Given the description of an element on the screen output the (x, y) to click on. 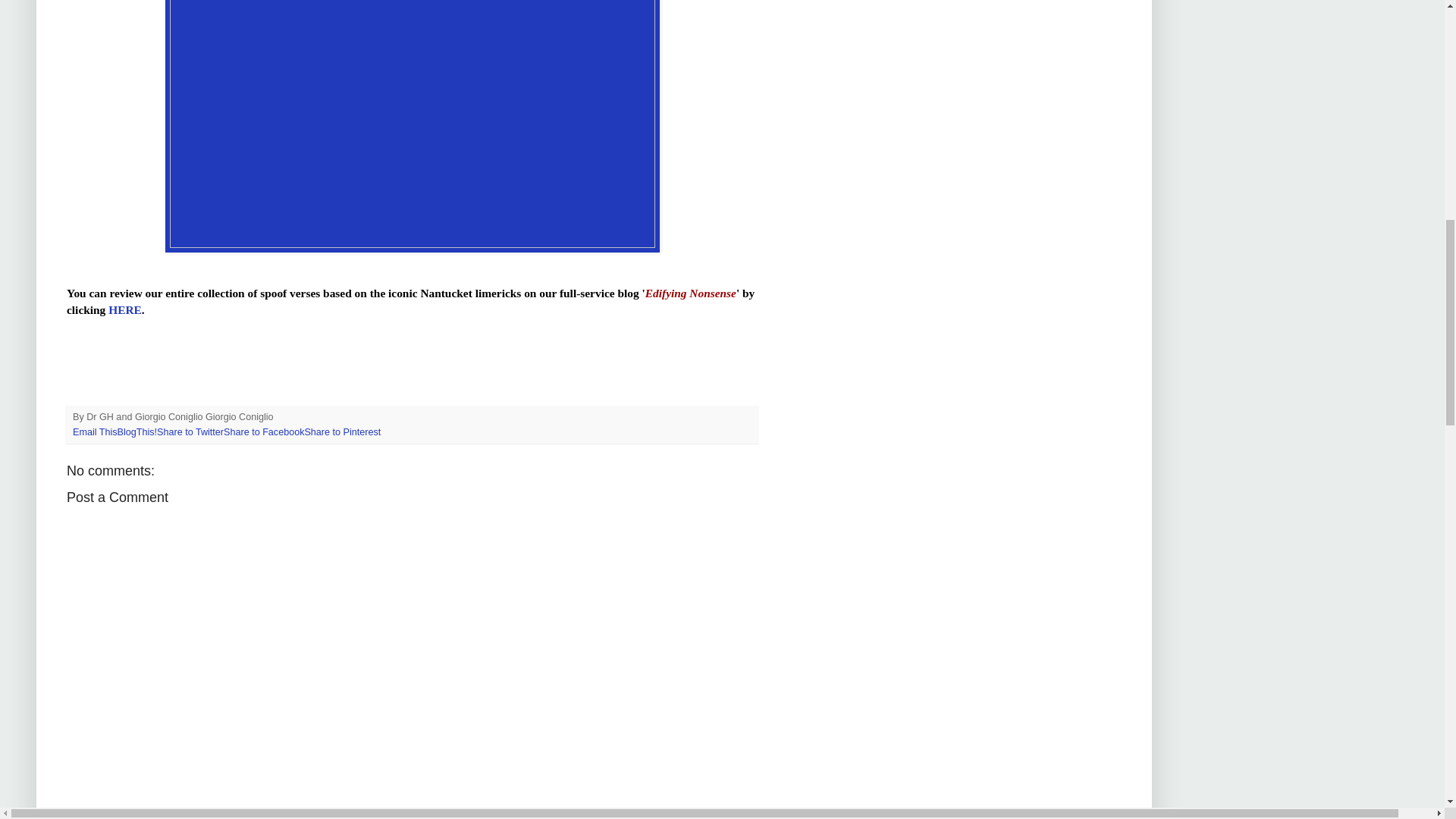
BlogThis! (137, 431)
Share to Twitter (190, 431)
Share to Twitter (190, 431)
Email This (94, 431)
Email This (94, 431)
Share to Facebook (264, 431)
BlogThis! (137, 431)
Email Post (282, 416)
Share to Facebook (264, 431)
HERE (124, 309)
Share to Pinterest (342, 431)
Share to Pinterest (342, 431)
